Given the description of an element on the screen output the (x, y) to click on. 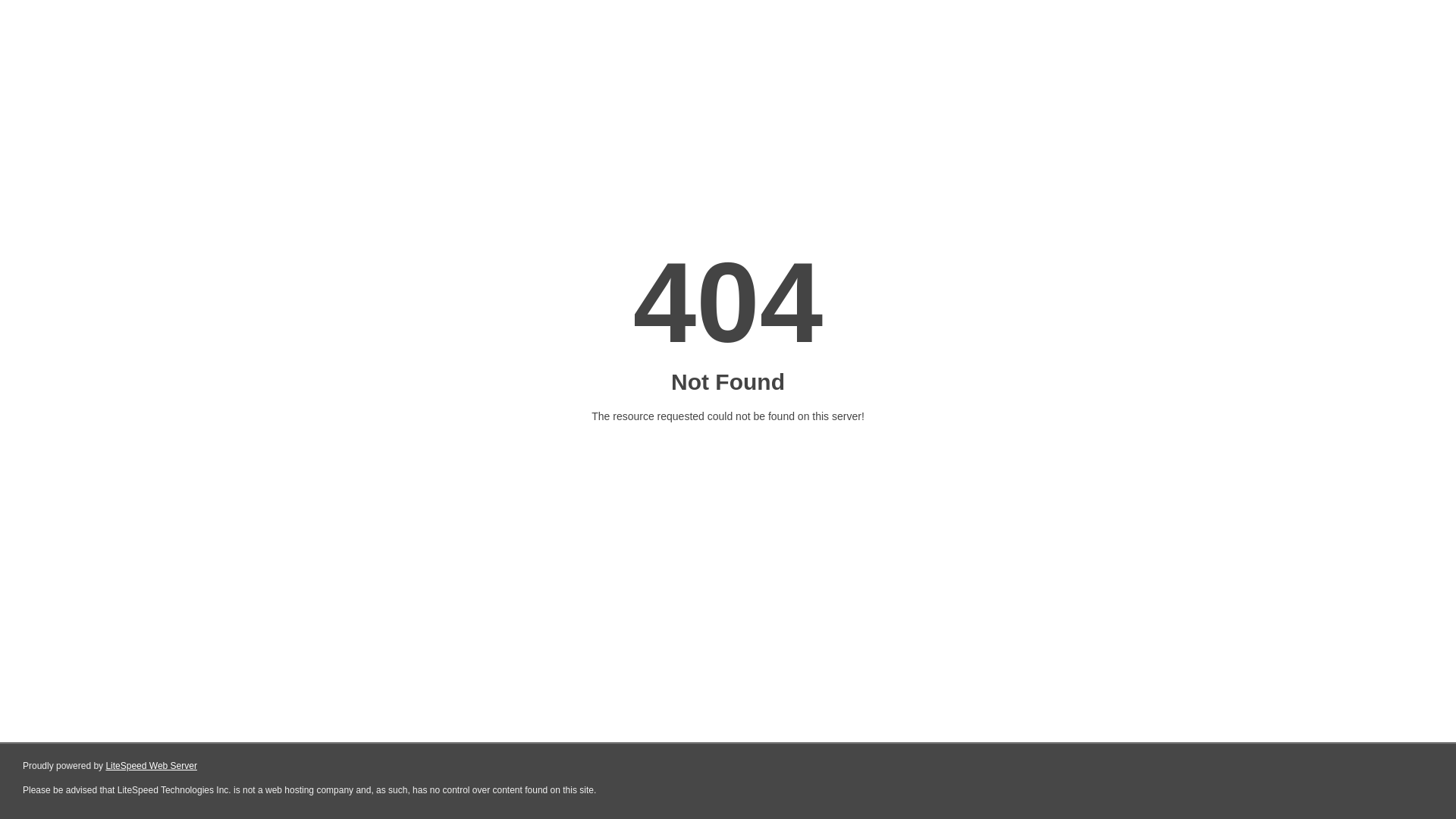
LiteSpeed Web Server Element type: text (151, 765)
